Given the description of an element on the screen output the (x, y) to click on. 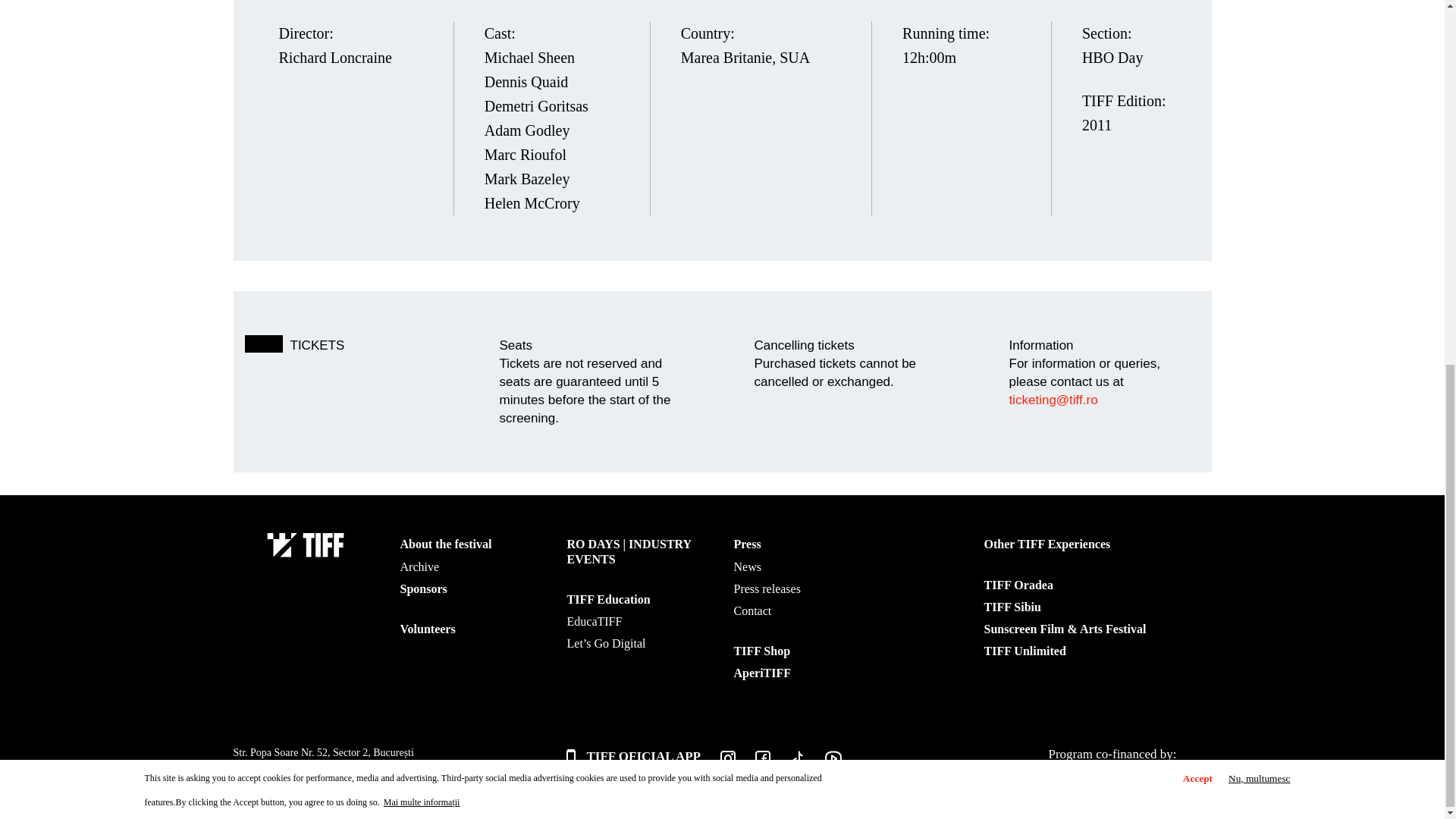
Tiktok (787, 762)
Facebook (752, 762)
TiffApp (633, 756)
Instagram (717, 762)
YouTube (823, 762)
